Given the description of an element on the screen output the (x, y) to click on. 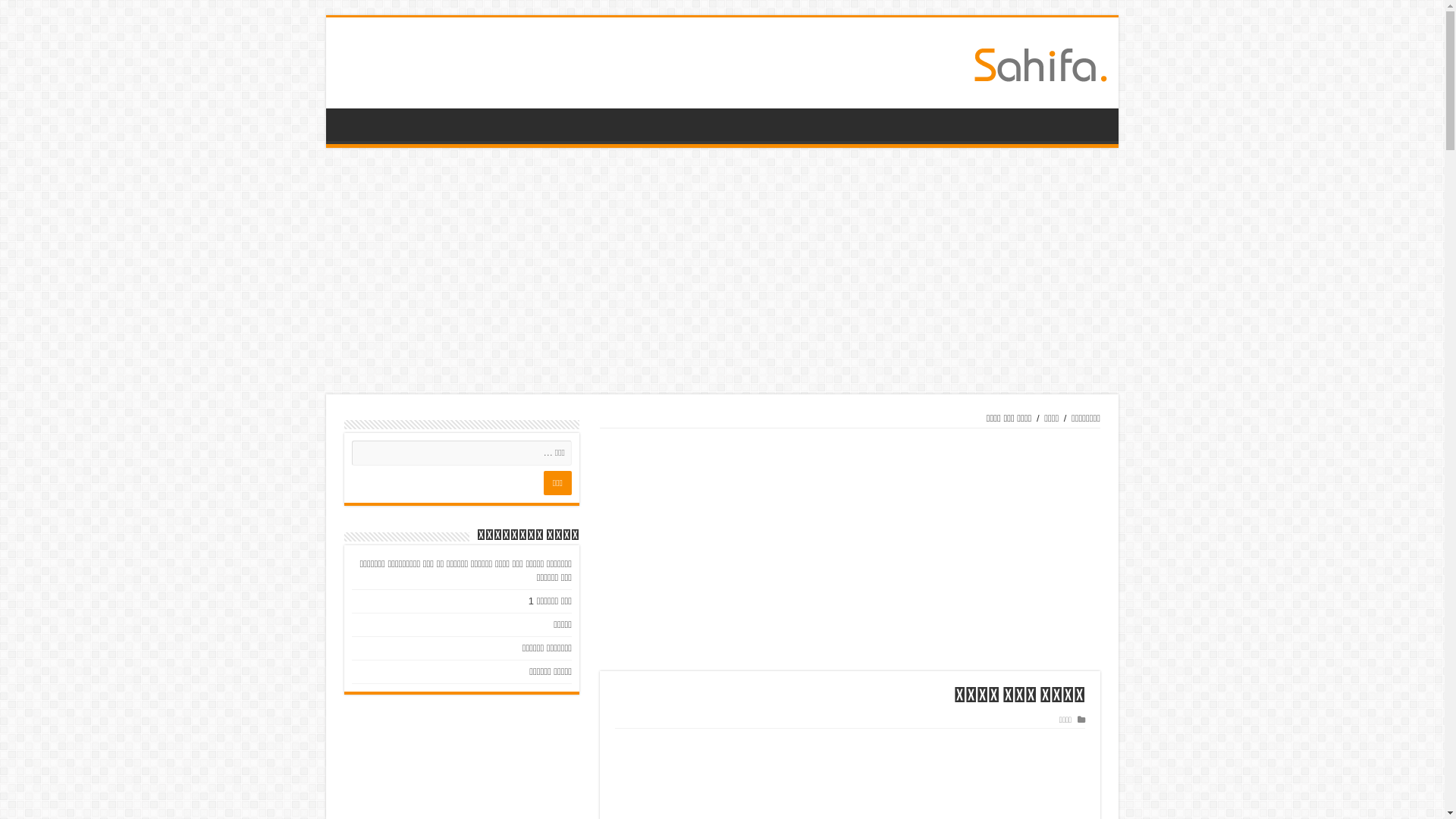
Advertisement Element type: hover (721, 272)
Advertisement Element type: hover (849, 549)
